Given the description of an element on the screen output the (x, y) to click on. 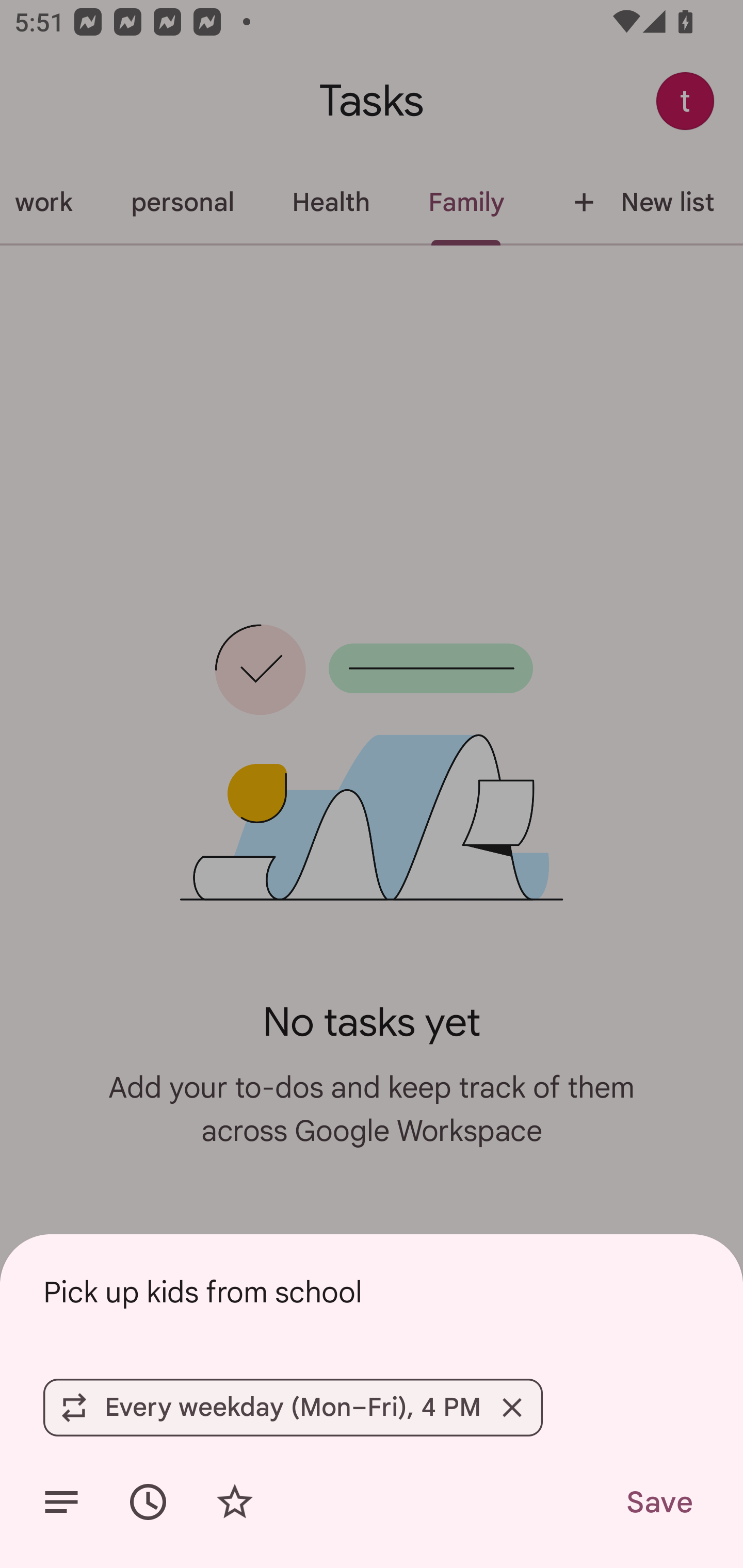
Pick up kids from school (371, 1291)
Save (659, 1501)
Add details (60, 1501)
Set date/time (147, 1501)
Add star (234, 1501)
